Given the description of an element on the screen output the (x, y) to click on. 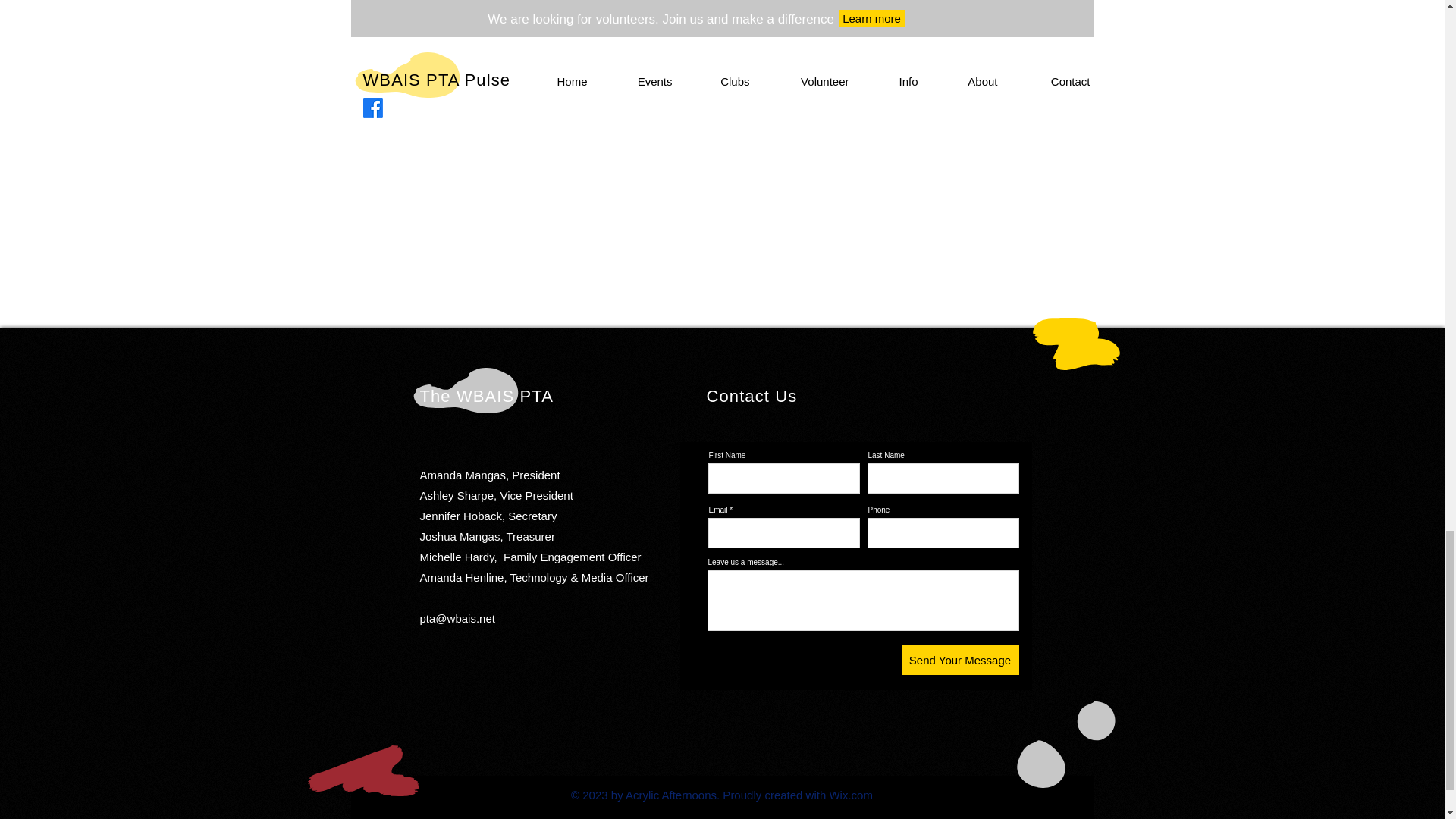
Wix.com (850, 794)
Contact Us (751, 395)
Send Your Message (959, 659)
The WBAIS PTA (487, 395)
